Given the description of an element on the screen output the (x, y) to click on. 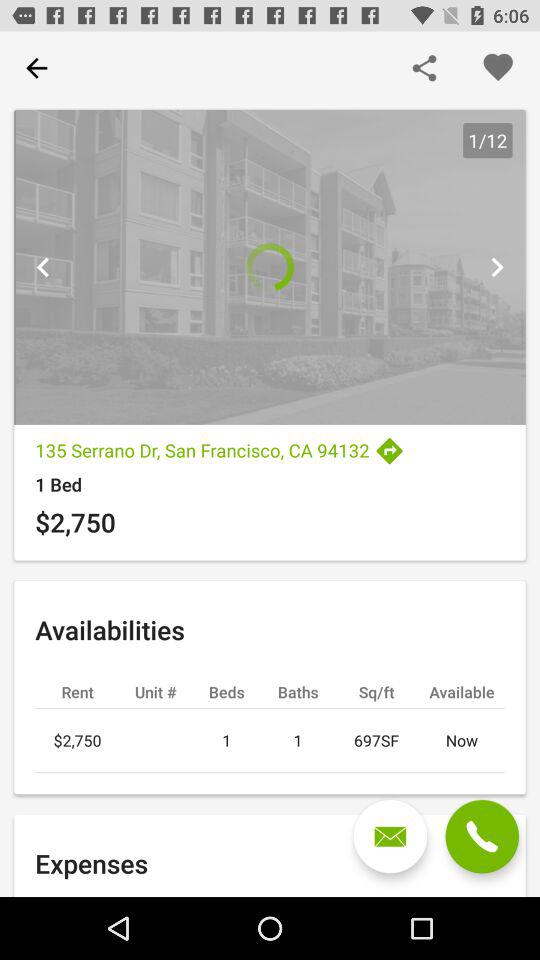
add like (497, 68)
